Given the description of an element on the screen output the (x, y) to click on. 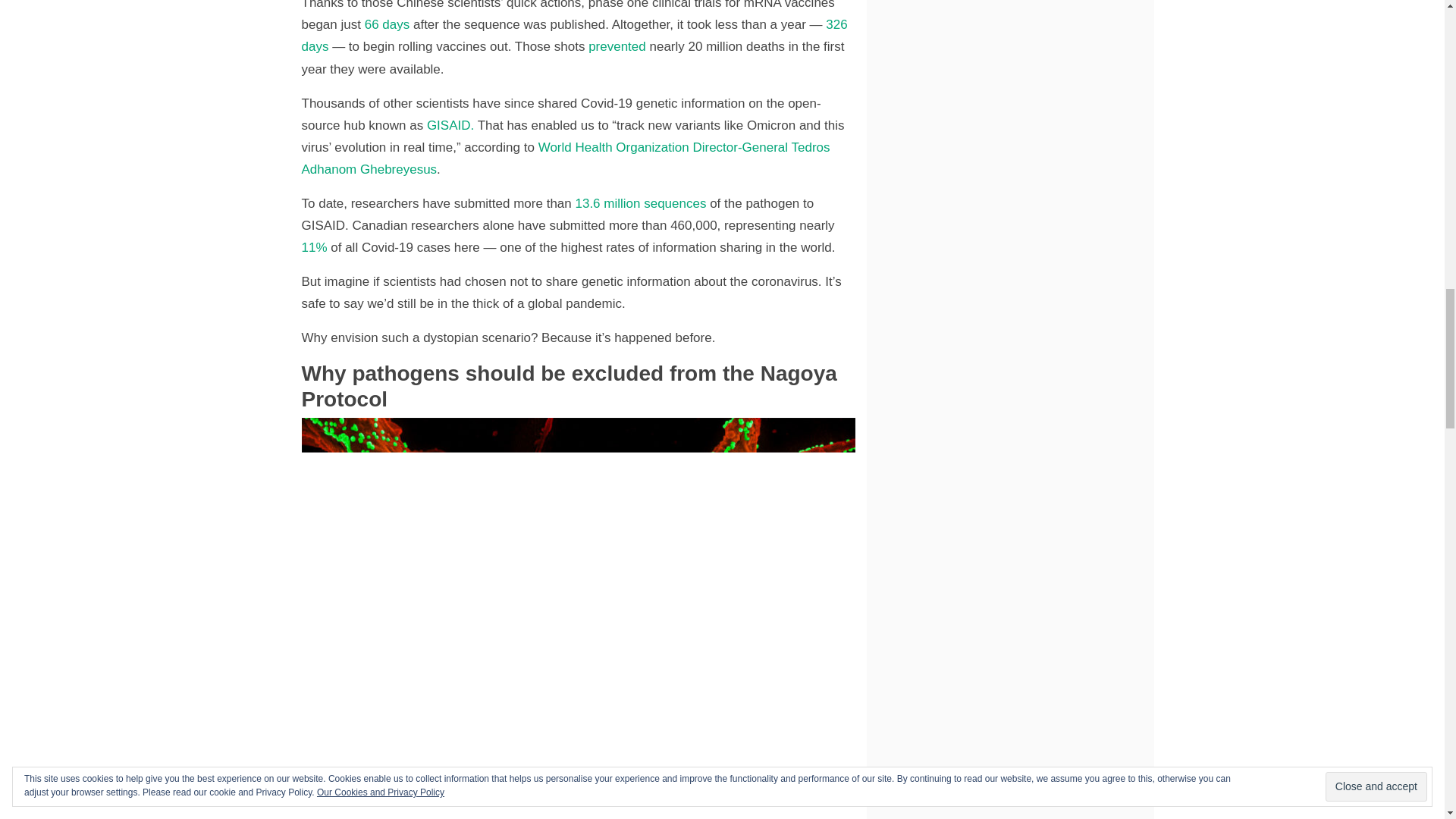
13.6 million sequences (639, 203)
66 days (385, 24)
prevented (615, 46)
GISAID. (448, 124)
326 days (574, 35)
